Given the description of an element on the screen output the (x, y) to click on. 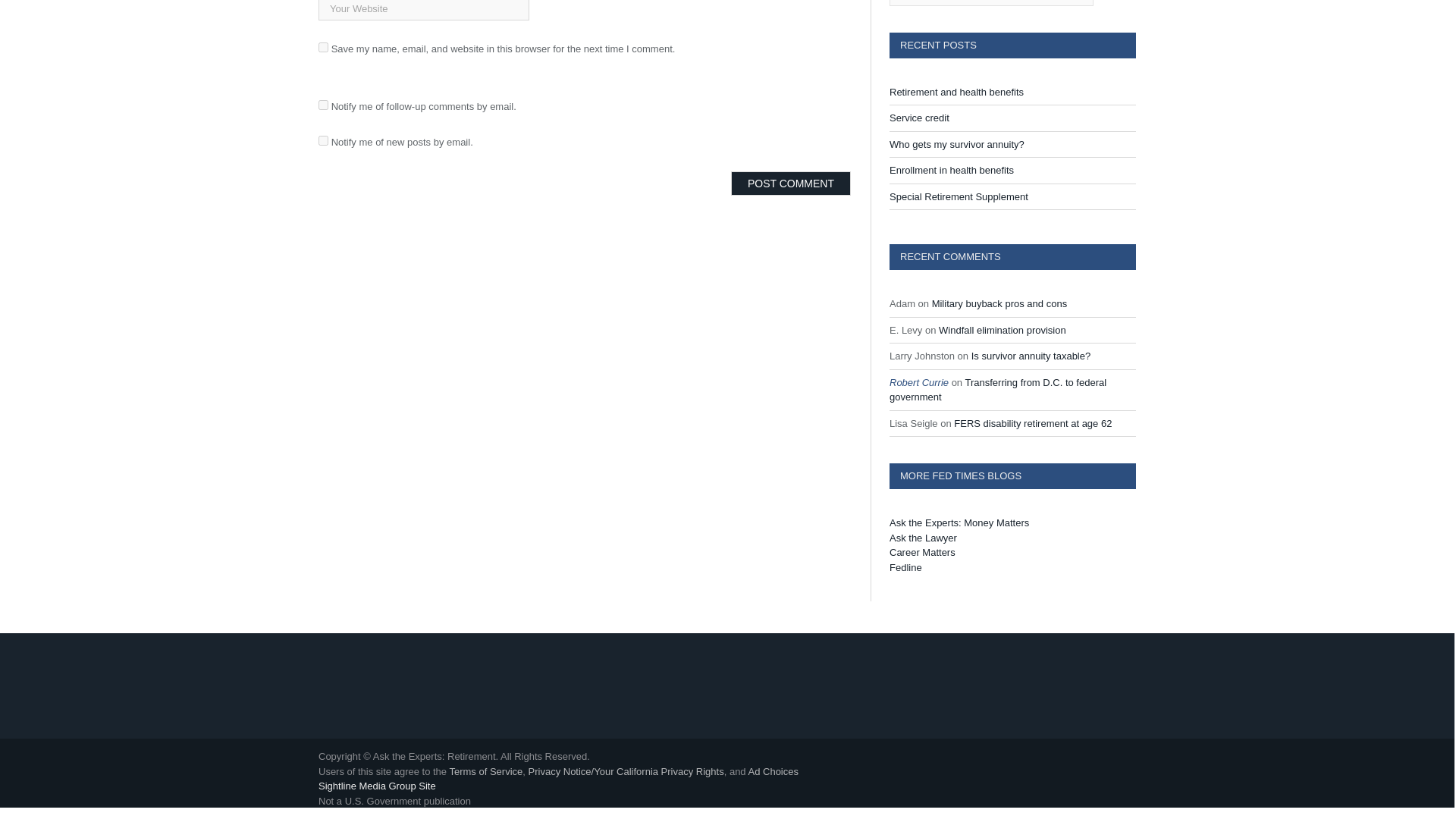
yes (323, 47)
subscribe (323, 104)
Post Comment (790, 183)
subscribe (323, 140)
